Given the description of an element on the screen output the (x, y) to click on. 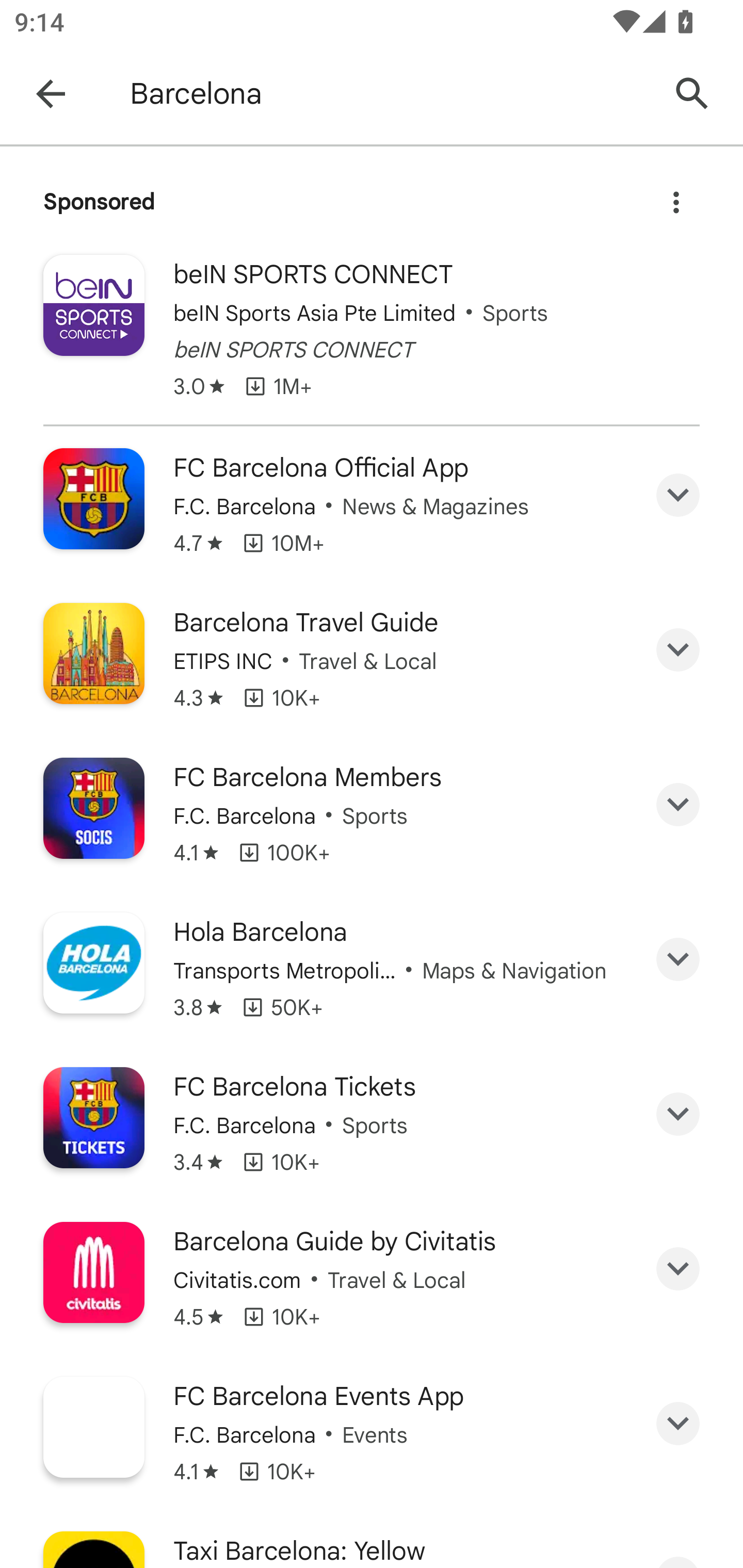
Barcelona (389, 93)
Navigate up (50, 93)
Search Google Play (692, 93)
About this ad (676, 196)
Expand content for FC Barcelona Official App (677, 494)
Expand content for Barcelona Travel Guide (677, 649)
Expand content for FC Barcelona Members (677, 805)
Expand content for Hola Barcelona (677, 958)
Expand content for FC Barcelona Tickets (677, 1113)
Expand content for Barcelona Guide by Civitatis (677, 1269)
Expand content for FC Barcelona Events App (677, 1423)
